Given the description of an element on the screen output the (x, y) to click on. 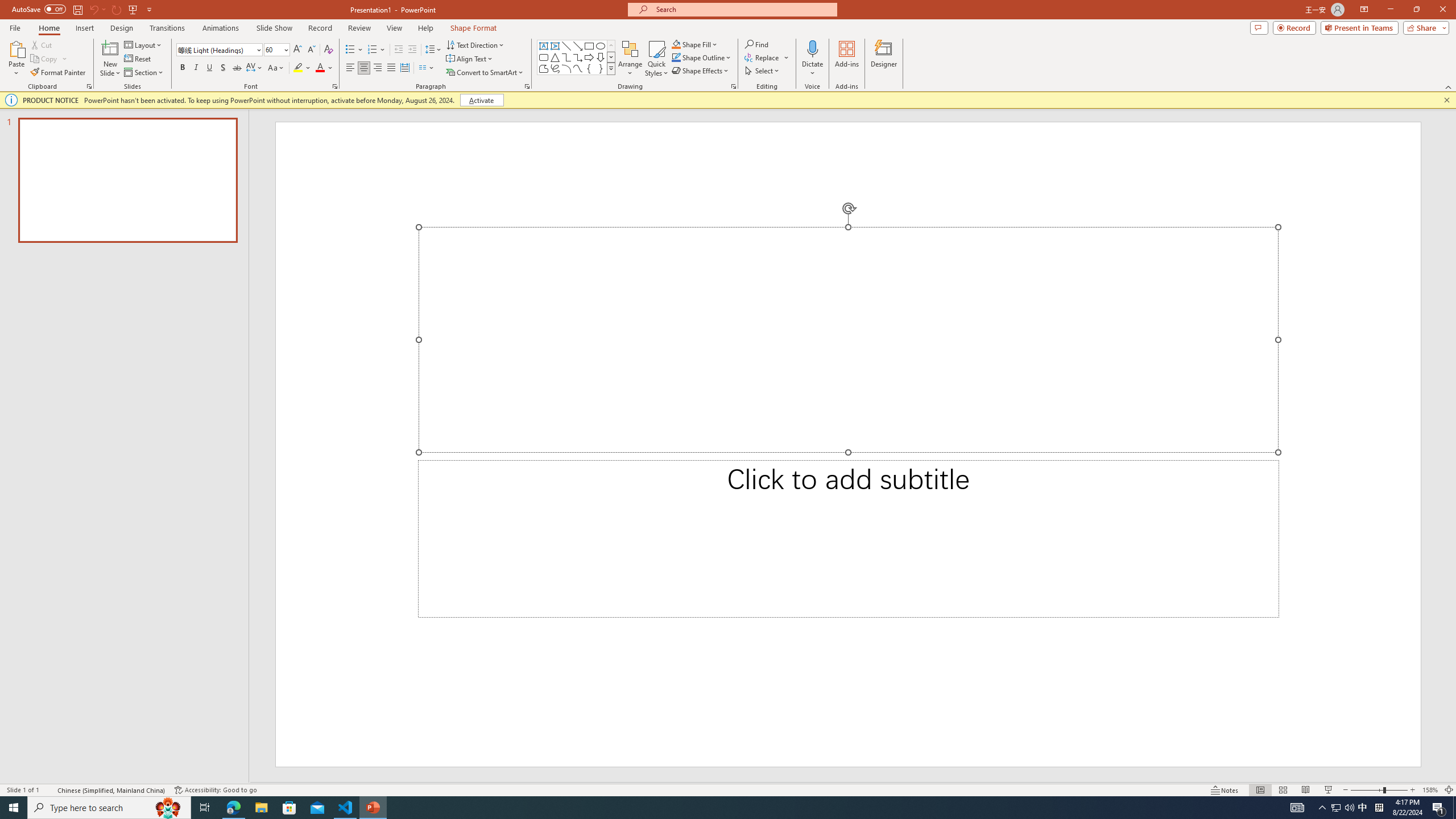
Shape Effects (700, 69)
Underline (209, 67)
Shape Outline Dark Red, Accent 1 (675, 56)
Arc (566, 68)
Office Clipboard... (88, 85)
Font Color Red (320, 67)
Connector: Elbow Arrow (577, 57)
Share (1423, 27)
Strikethrough (237, 67)
Reading View (1305, 790)
Distributed (404, 67)
Line Arrow (577, 45)
Center (363, 67)
Font (215, 49)
